Given the description of an element on the screen output the (x, y) to click on. 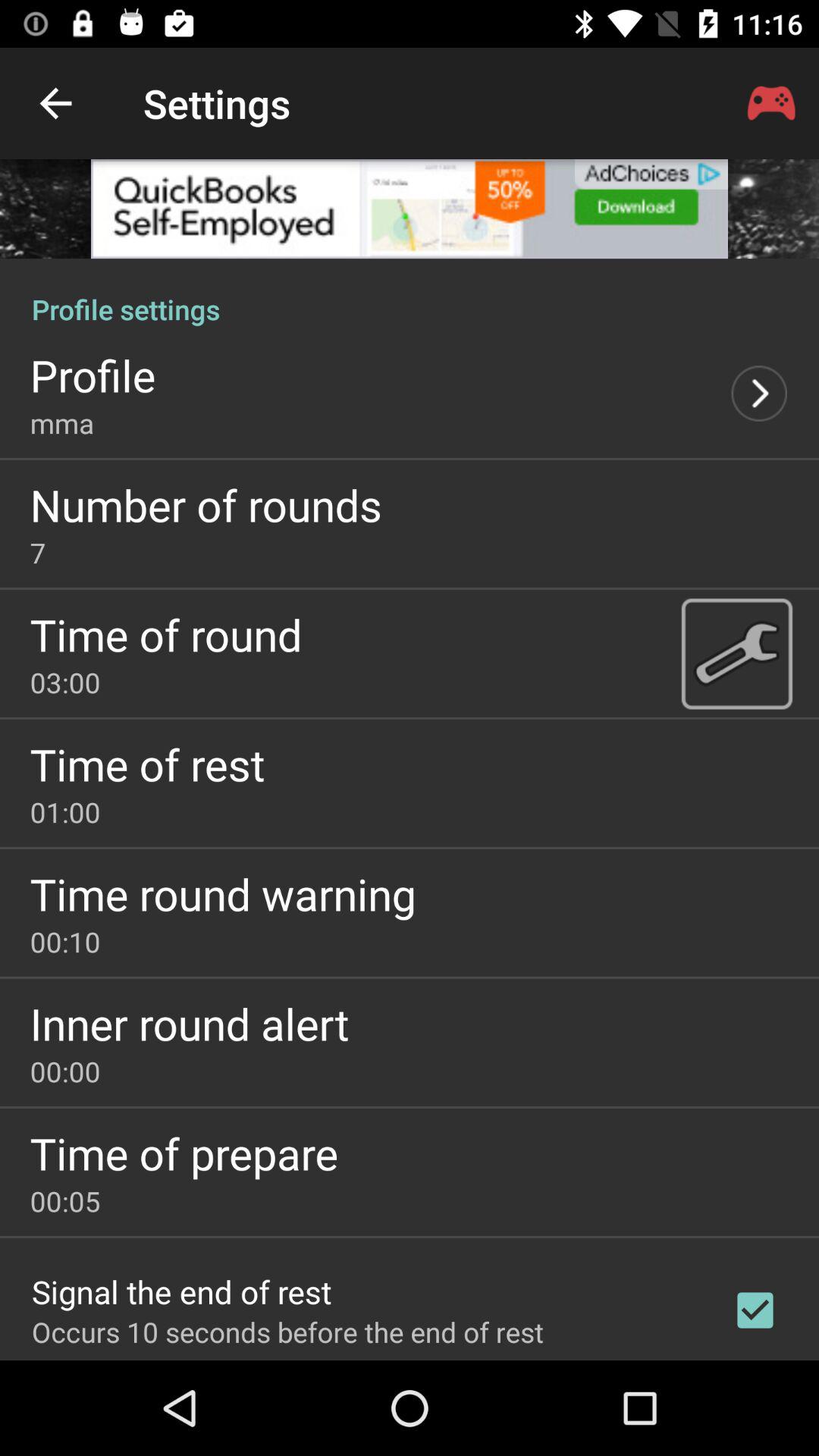
adjust time (736, 653)
